Given the description of an element on the screen output the (x, y) to click on. 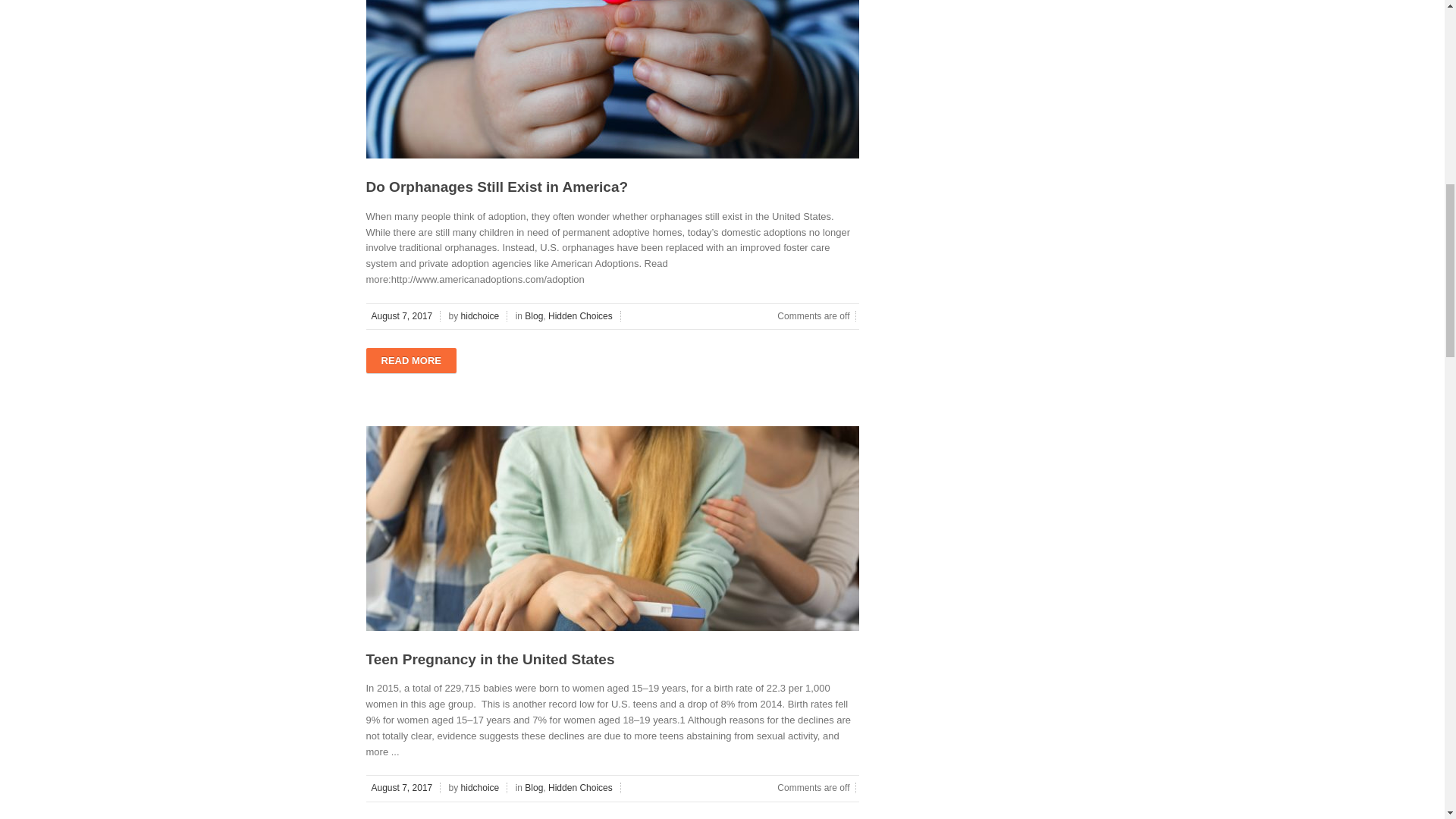
Hidden Choices (581, 787)
hidchoice (481, 787)
Permalink to Do Orphanages Still Exist in America? (496, 186)
Blog (533, 316)
hidchoice (481, 316)
Permalink to Teen Pregnancy in the United States (489, 659)
August 7, 2017 (403, 316)
READ MORE (410, 360)
Do Orphanages Still Exist in America? (496, 186)
Teen Pregnancy in the United States (489, 659)
